Given the description of an element on the screen output the (x, y) to click on. 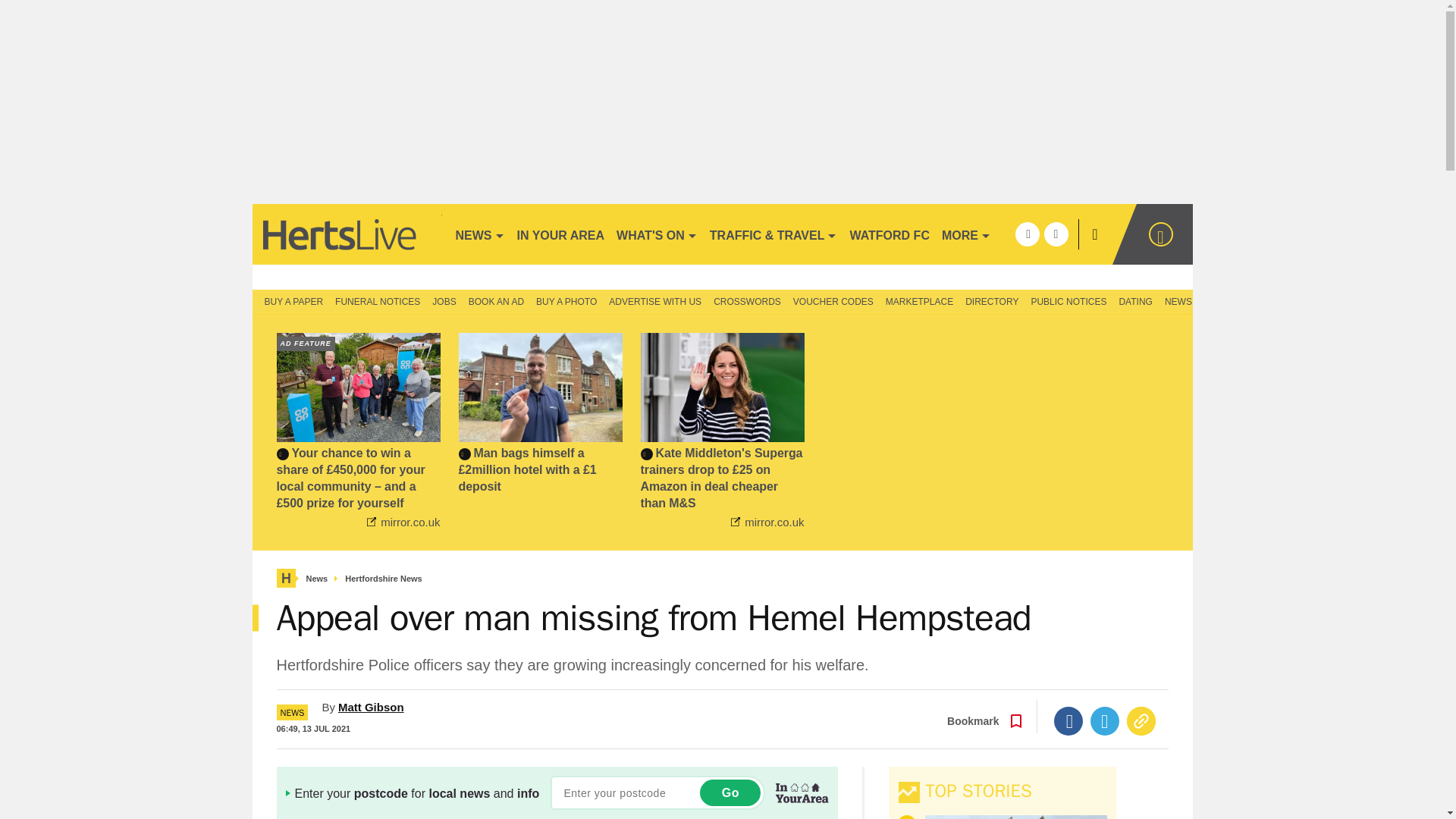
Facebook (1068, 720)
WHAT'S ON (656, 233)
NEWS (479, 233)
IN YOUR AREA (561, 233)
hertfordshiremercury (346, 233)
WATFORD FC (888, 233)
facebook (1026, 233)
MORE (966, 233)
Go (730, 792)
twitter (1055, 233)
Twitter (1104, 720)
